Given the description of an element on the screen output the (x, y) to click on. 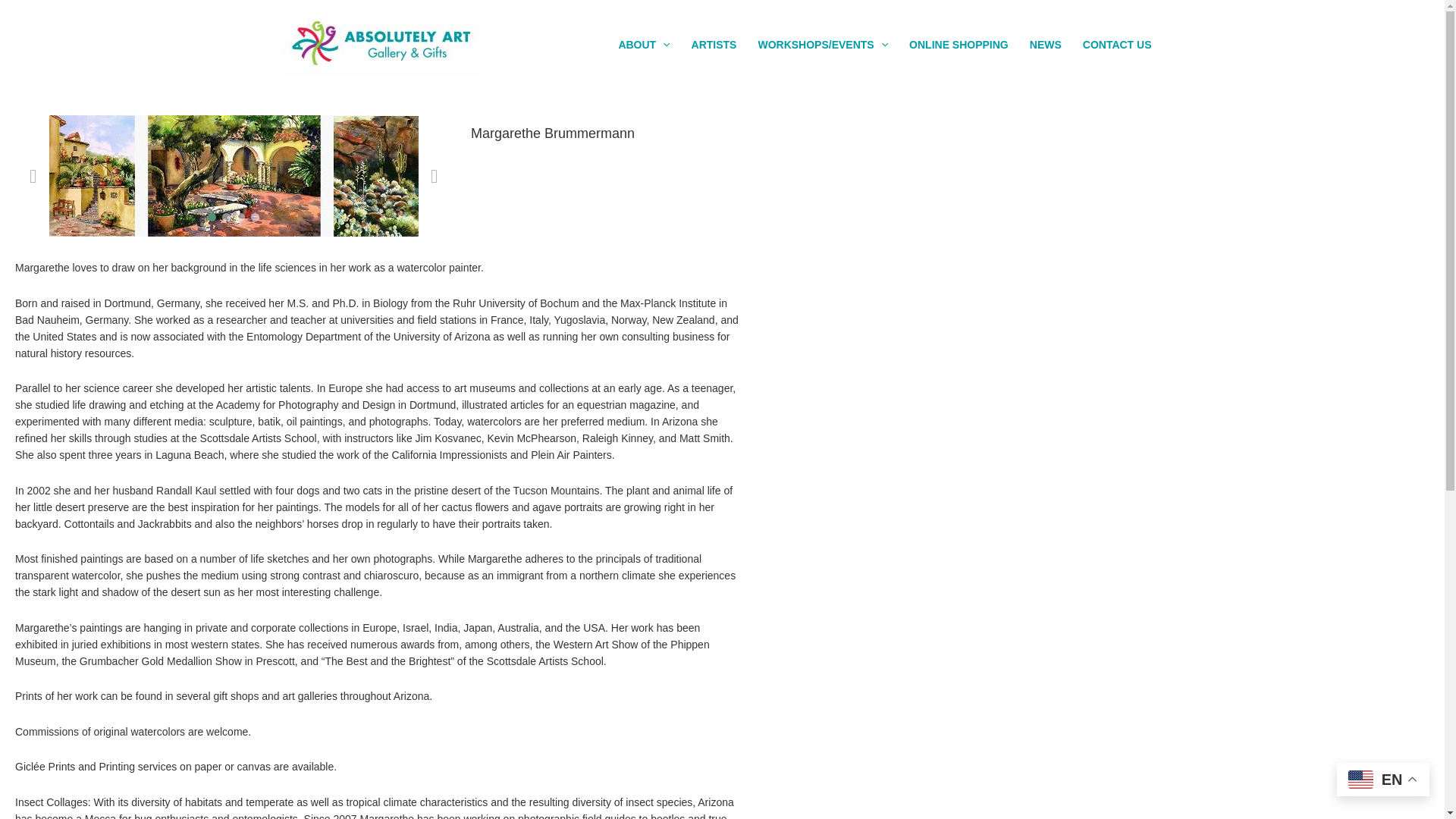
ARTISTS (714, 43)
ONLINE SHOPPING (958, 43)
CONTACT US (1116, 43)
ABOUT (643, 43)
